Given the description of an element on the screen output the (x, y) to click on. 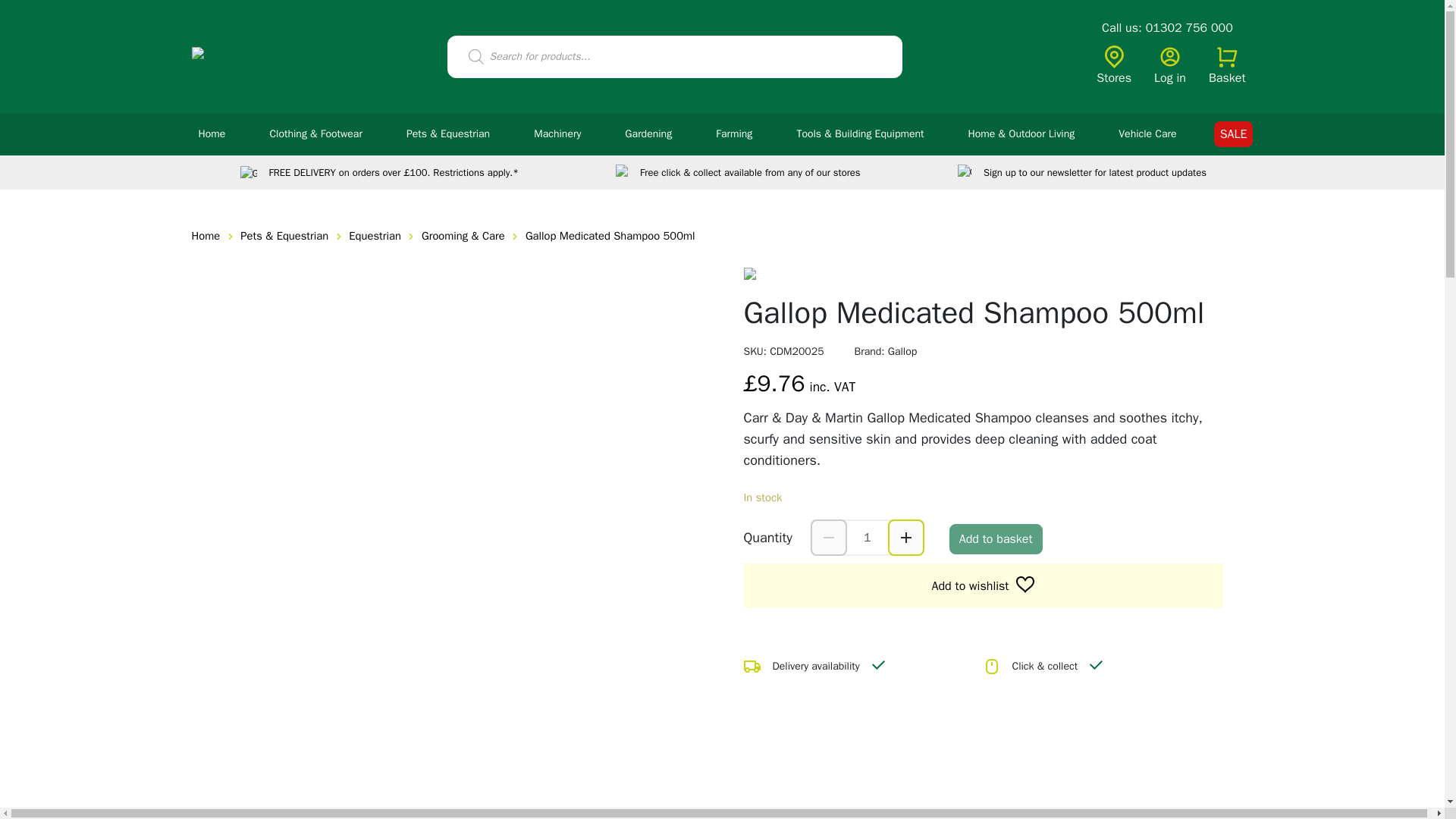
Log in (1170, 66)
Home (211, 134)
Log in (1170, 66)
Call us: 01302 756 000 (1167, 28)
Store Finder (1113, 66)
Basket (1227, 66)
Basket (1227, 66)
Call us: 01302 756 000 (1167, 28)
Qty (867, 537)
Stores (1113, 66)
Sign up to our newsletter for latest product updates (1082, 172)
1 (867, 537)
